Given the description of an element on the screen output the (x, y) to click on. 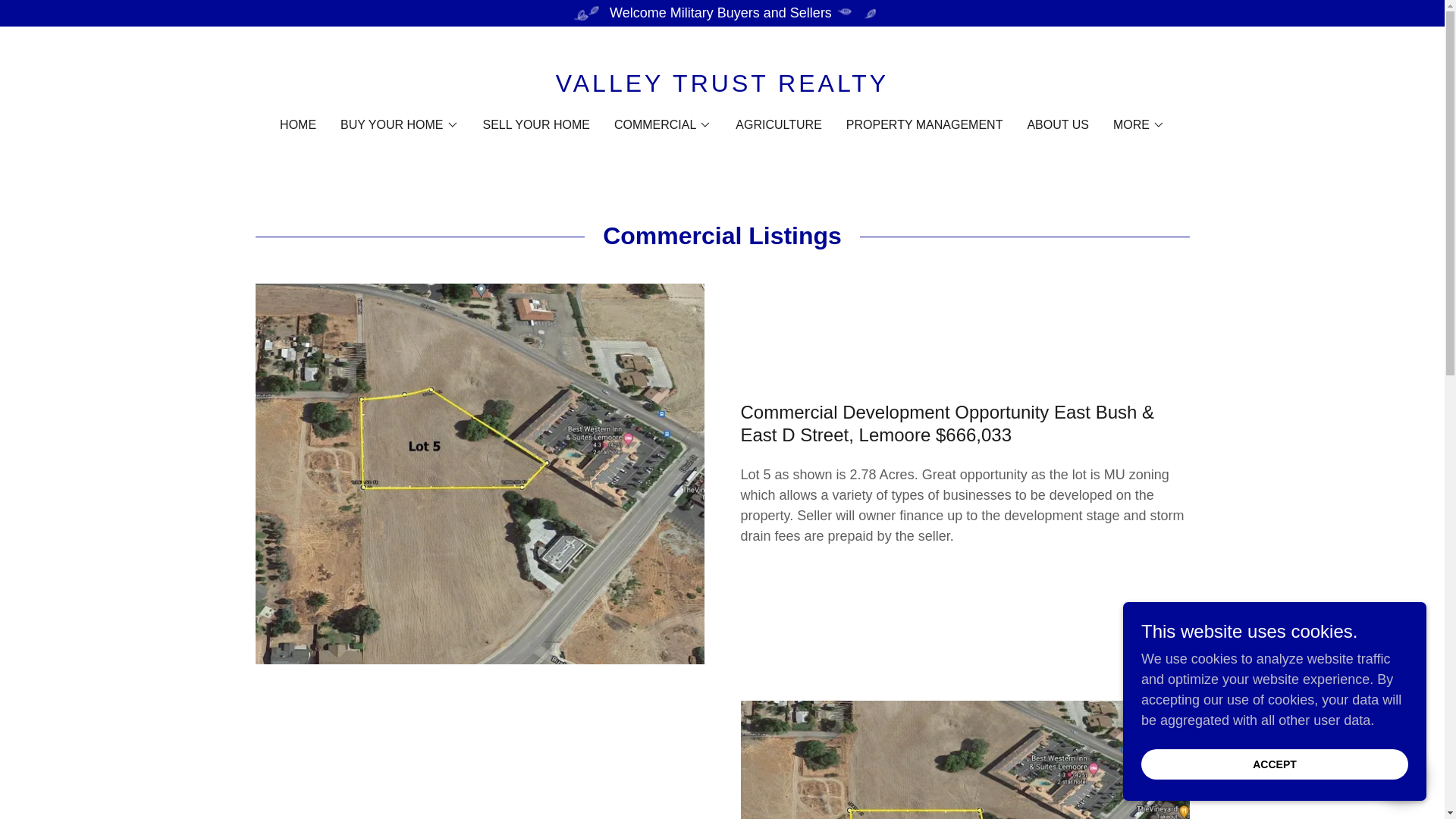
VALLEY TRUST REALTY (721, 87)
COMMERCIAL (662, 125)
BUY YOUR HOME (399, 125)
AGRICULTURE (778, 124)
HOME (297, 124)
SELL YOUR HOME (536, 124)
VALLEY TRUST REALTY (721, 87)
ABOUT US (1057, 124)
MORE (1138, 125)
PROPERTY MANAGEMENT (924, 124)
